Given the description of an element on the screen output the (x, y) to click on. 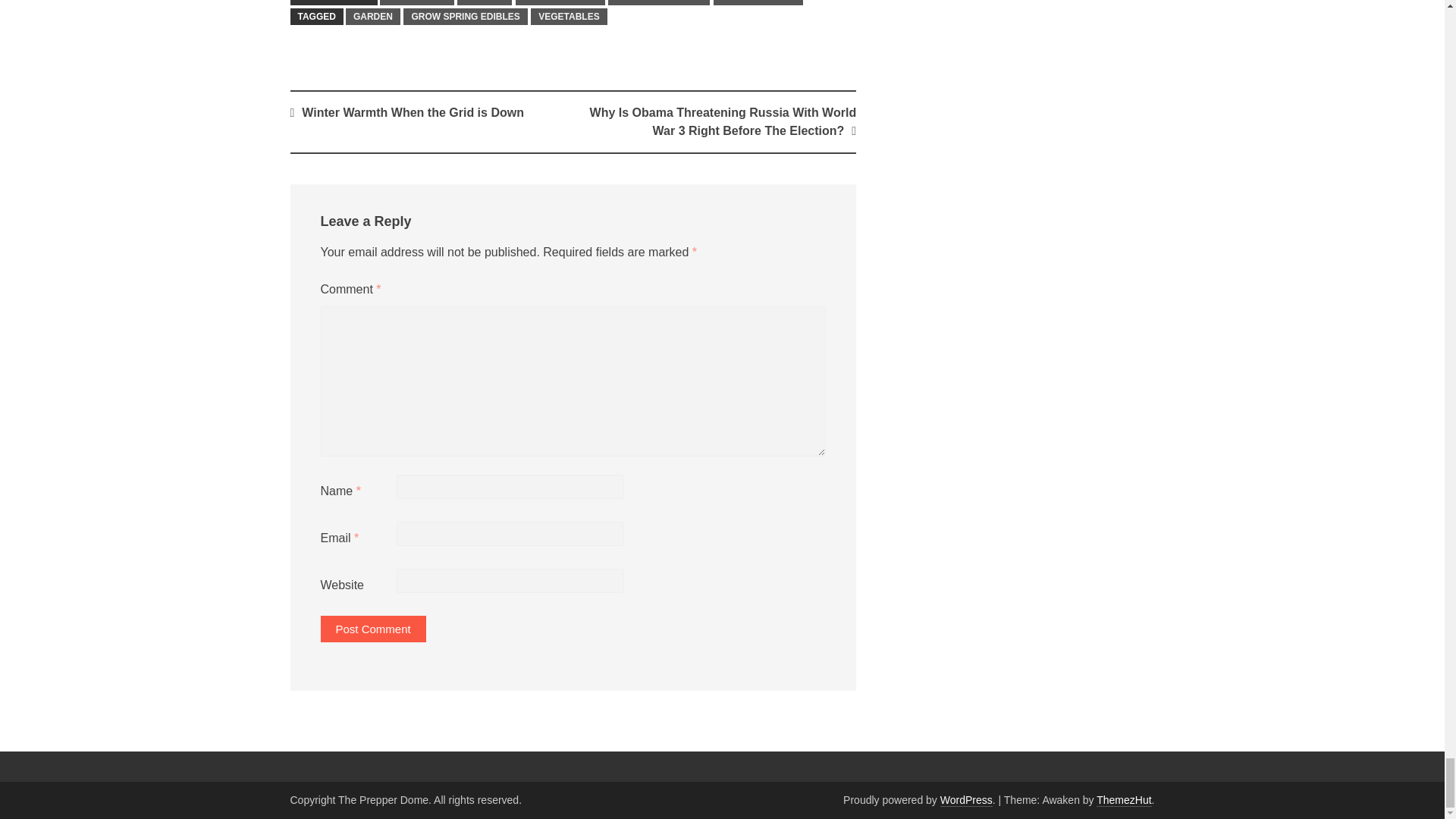
Post Comment (372, 628)
WordPress (966, 799)
